Given the description of an element on the screen output the (x, y) to click on. 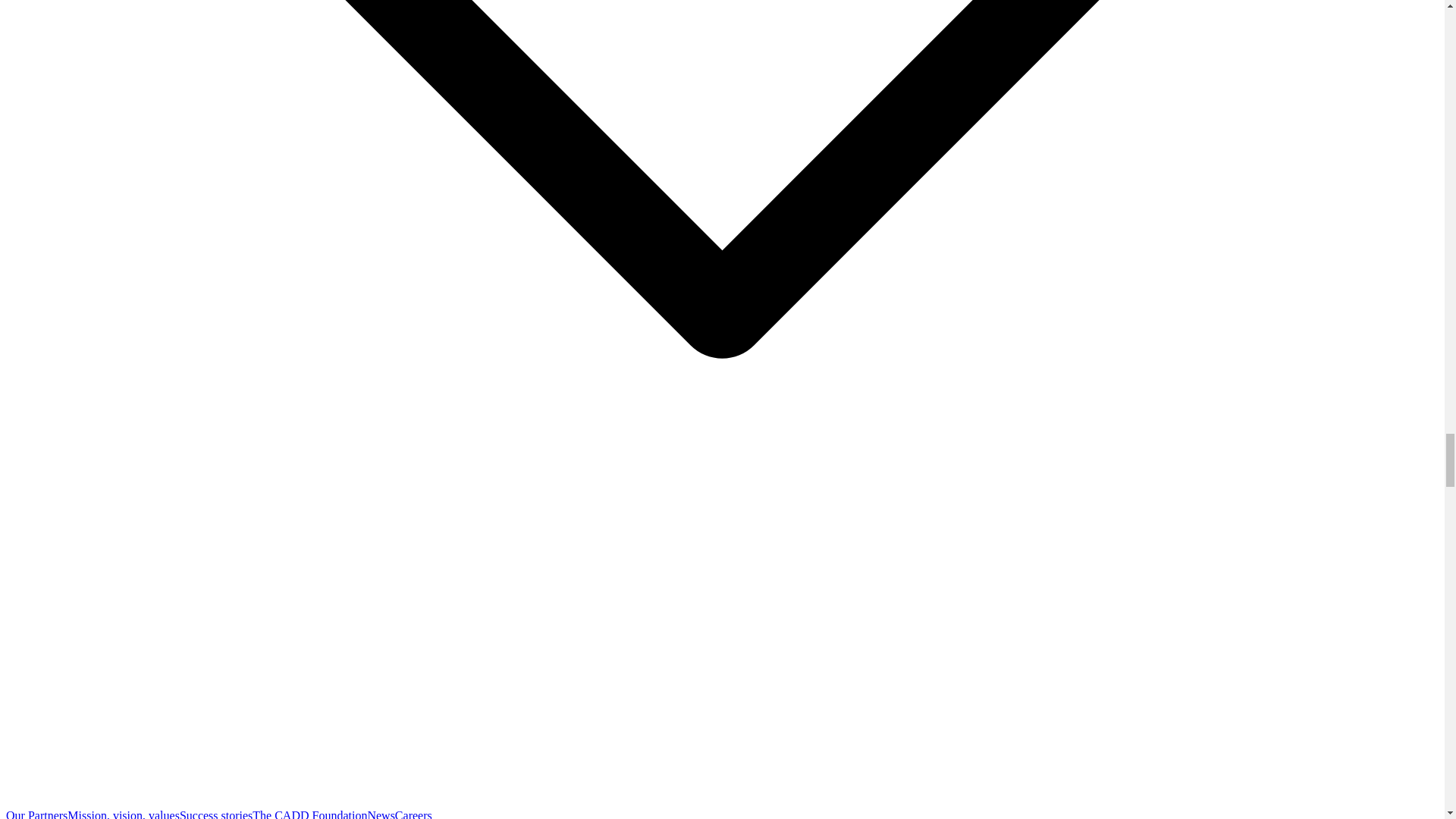
The CADD Foundation (308, 814)
News (380, 814)
Mission, vision, values (122, 814)
Success stories (215, 814)
Our Partners (35, 814)
Careers (413, 814)
